Given the description of an element on the screen output the (x, y) to click on. 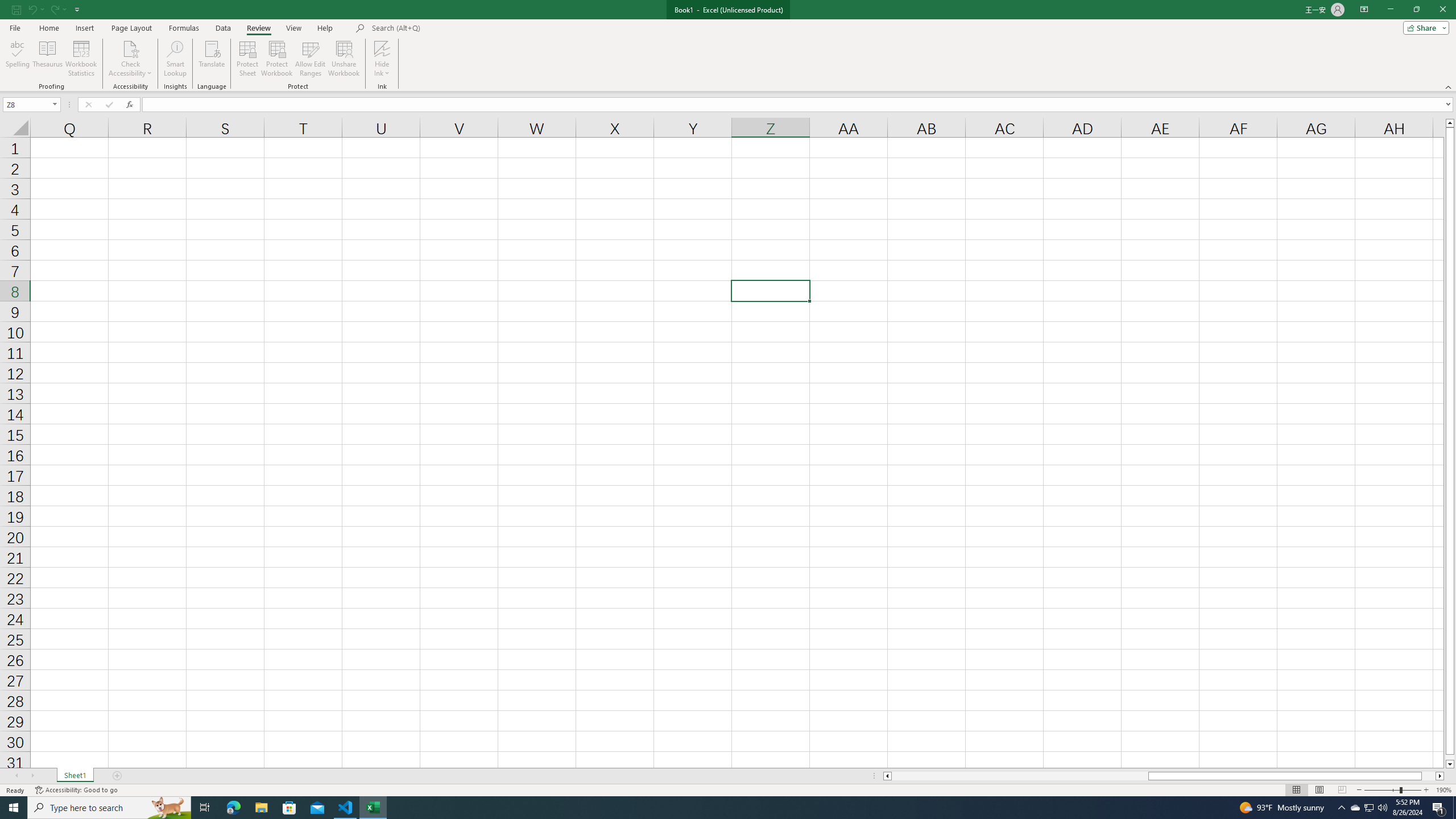
Hide Ink (381, 48)
Protect Workbook... (277, 58)
Class: MsoCommandBar (728, 45)
